Given the description of an element on the screen output the (x, y) to click on. 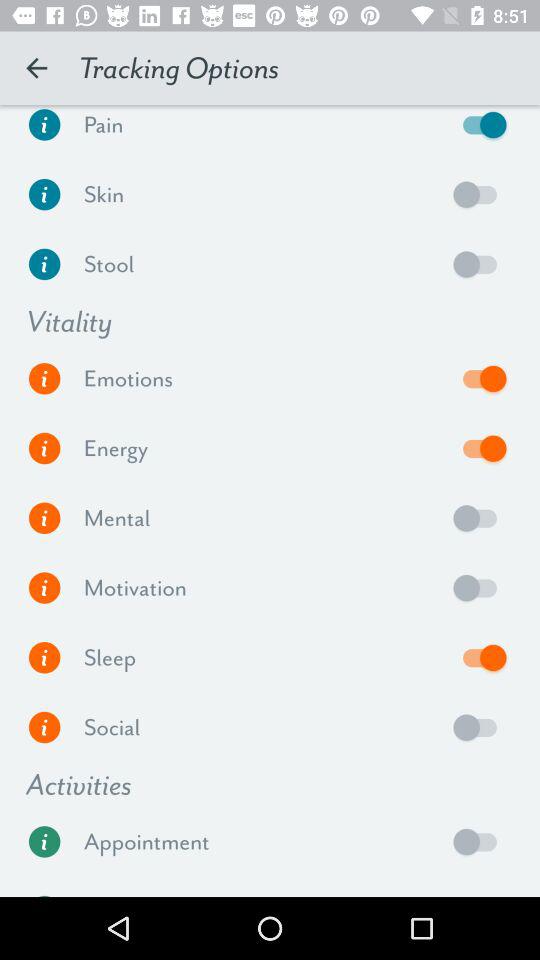
toggle mental option (479, 518)
